Given the description of an element on the screen output the (x, y) to click on. 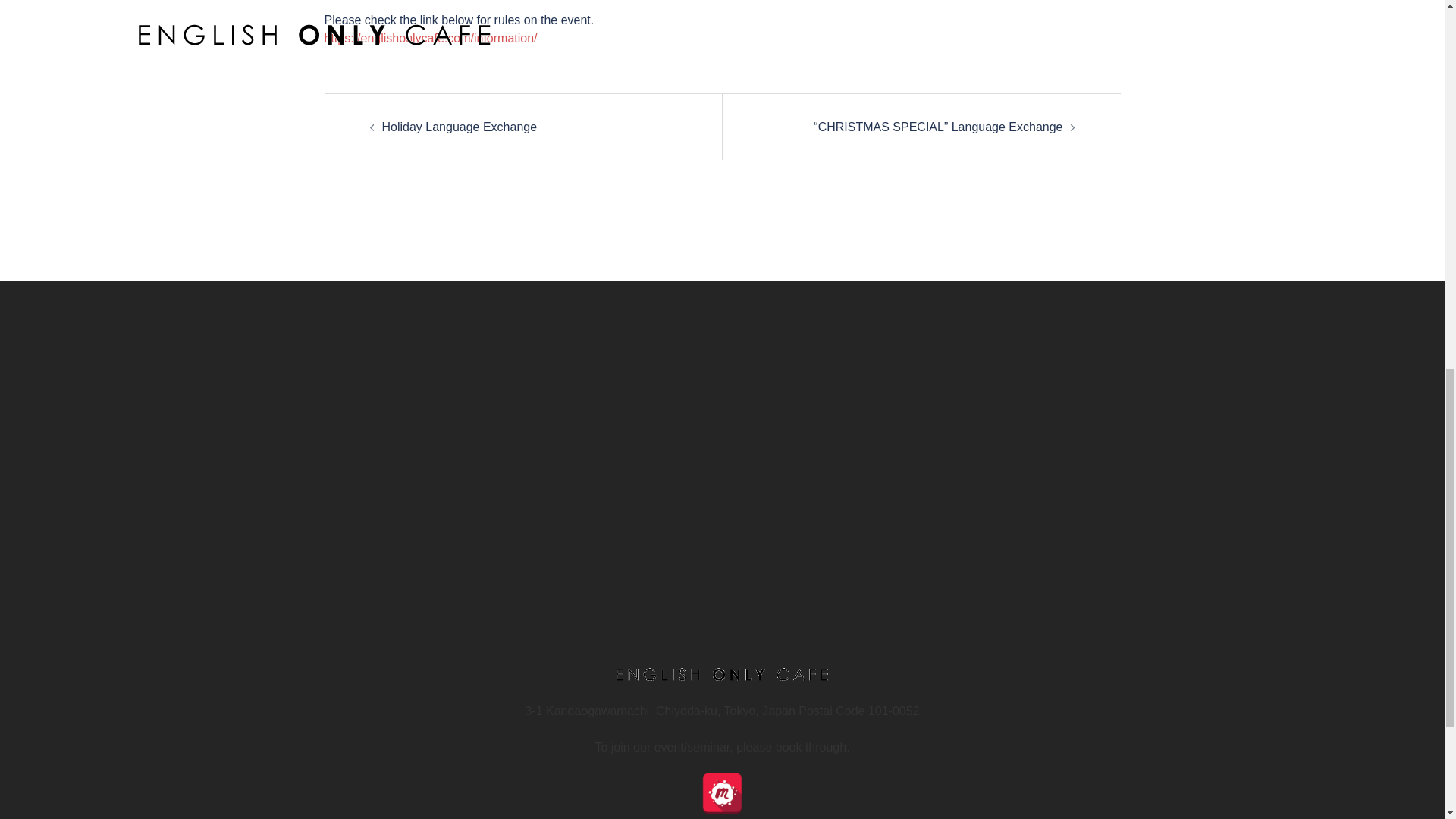
Meetup (721, 793)
Holiday Language Exchange (459, 126)
